Given the description of an element on the screen output the (x, y) to click on. 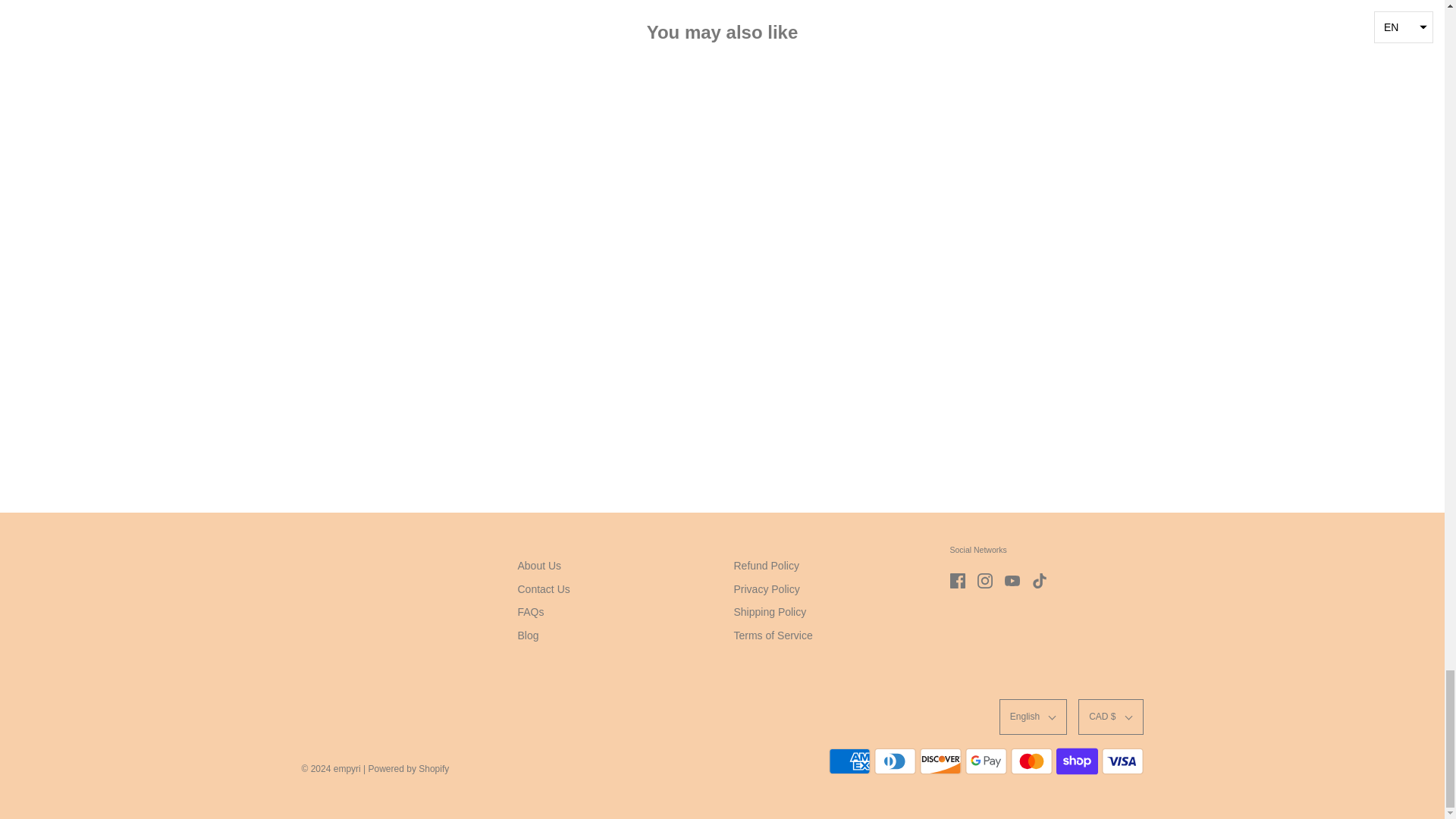
YouTube icon (1011, 580)
TikTok icon (1038, 580)
Visa (1121, 761)
Google Pay (984, 761)
Facebook icon (956, 580)
American Express (848, 761)
Diners Club (894, 761)
Mastercard (1030, 761)
Instagram icon (983, 580)
Shop Pay (1076, 761)
